Given the description of an element on the screen output the (x, y) to click on. 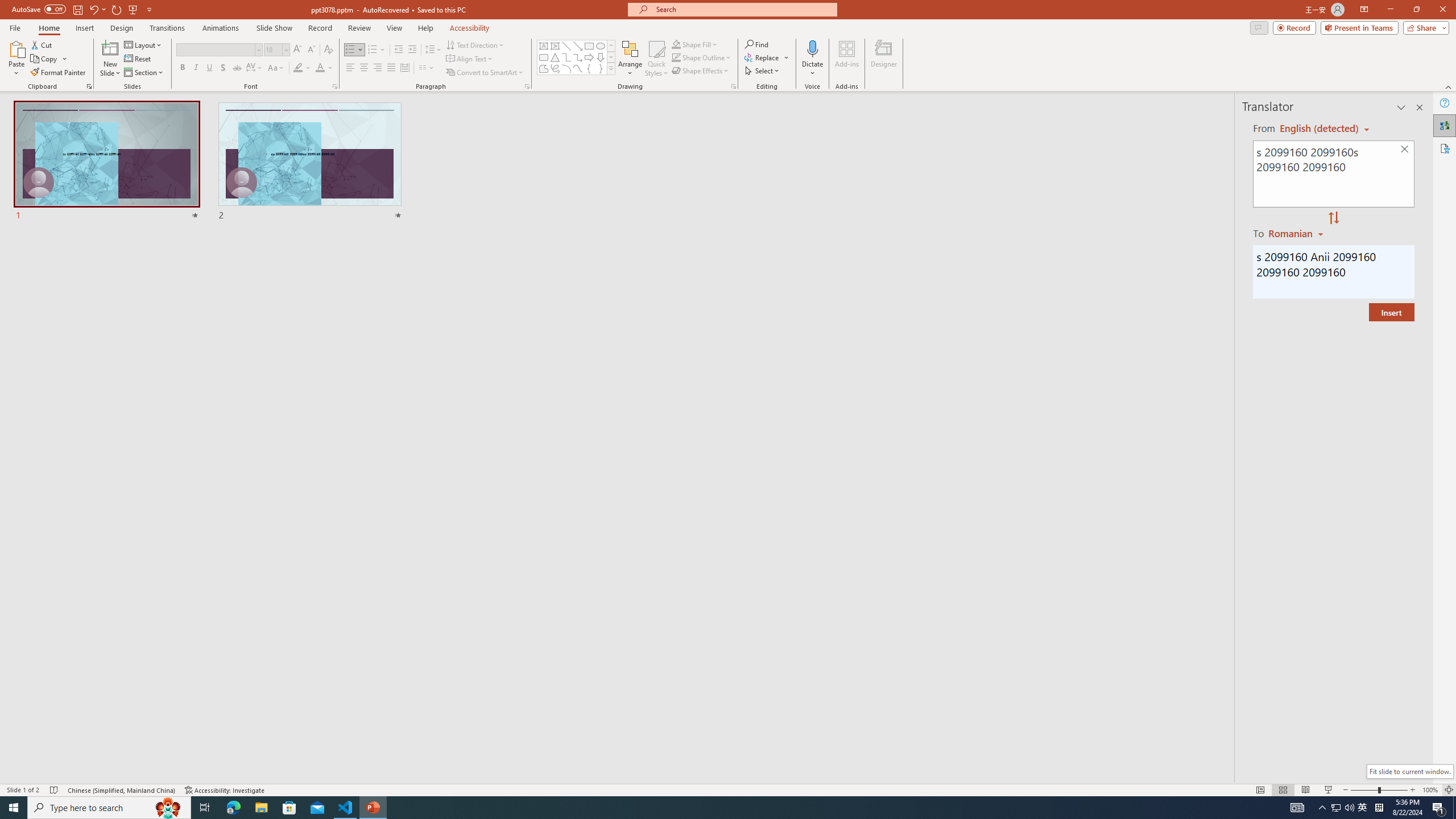
Font... (334, 85)
Line (566, 45)
Freeform: Scribble (554, 68)
Text Highlight Color Yellow (297, 67)
Curve (577, 68)
Shape Effects (700, 69)
Left Brace (589, 68)
Isosceles Triangle (554, 57)
Romanian (1296, 232)
